Given the description of an element on the screen output the (x, y) to click on. 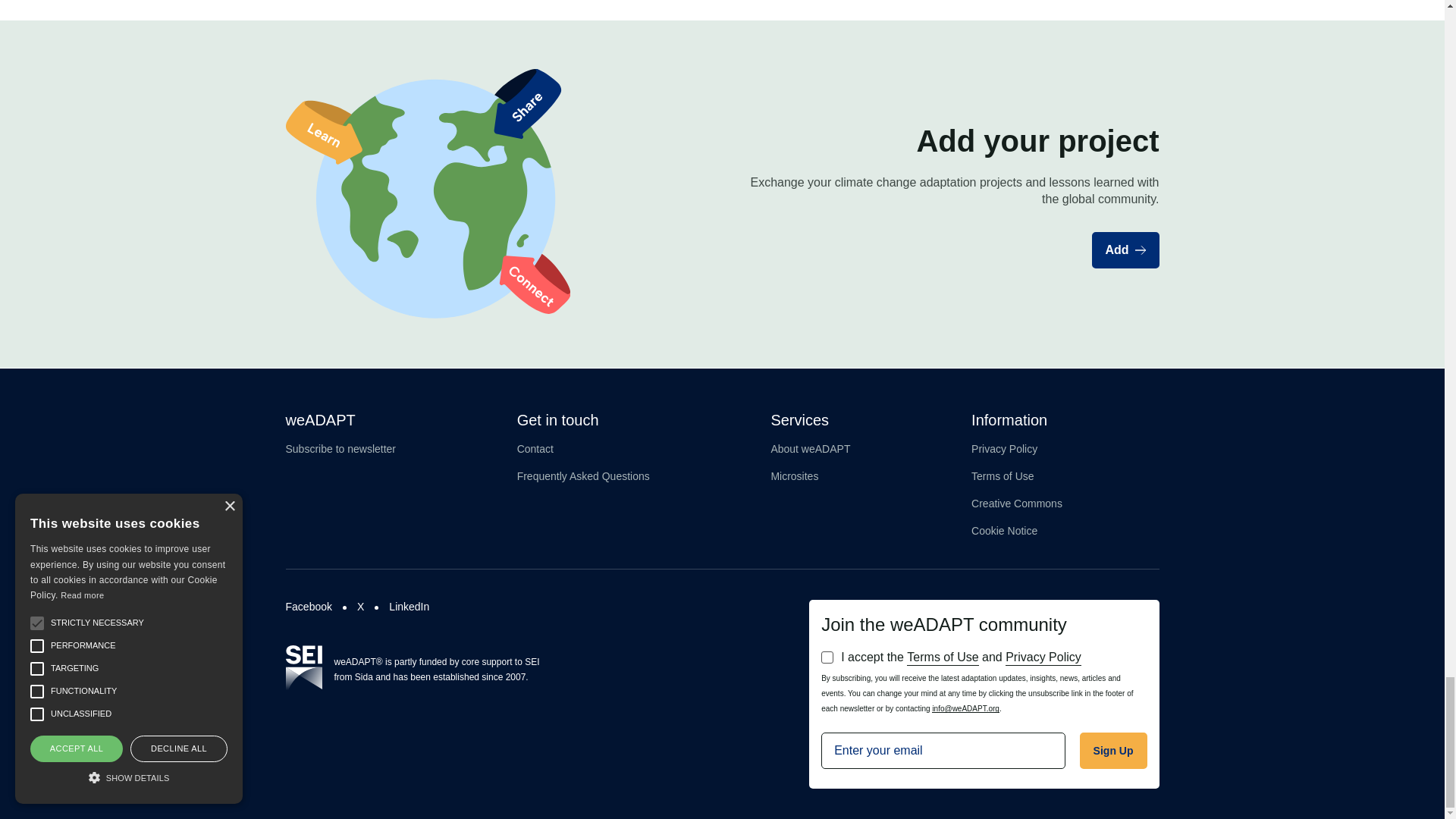
Sign Up (1113, 750)
1 (826, 657)
